Given the description of an element on the screen output the (x, y) to click on. 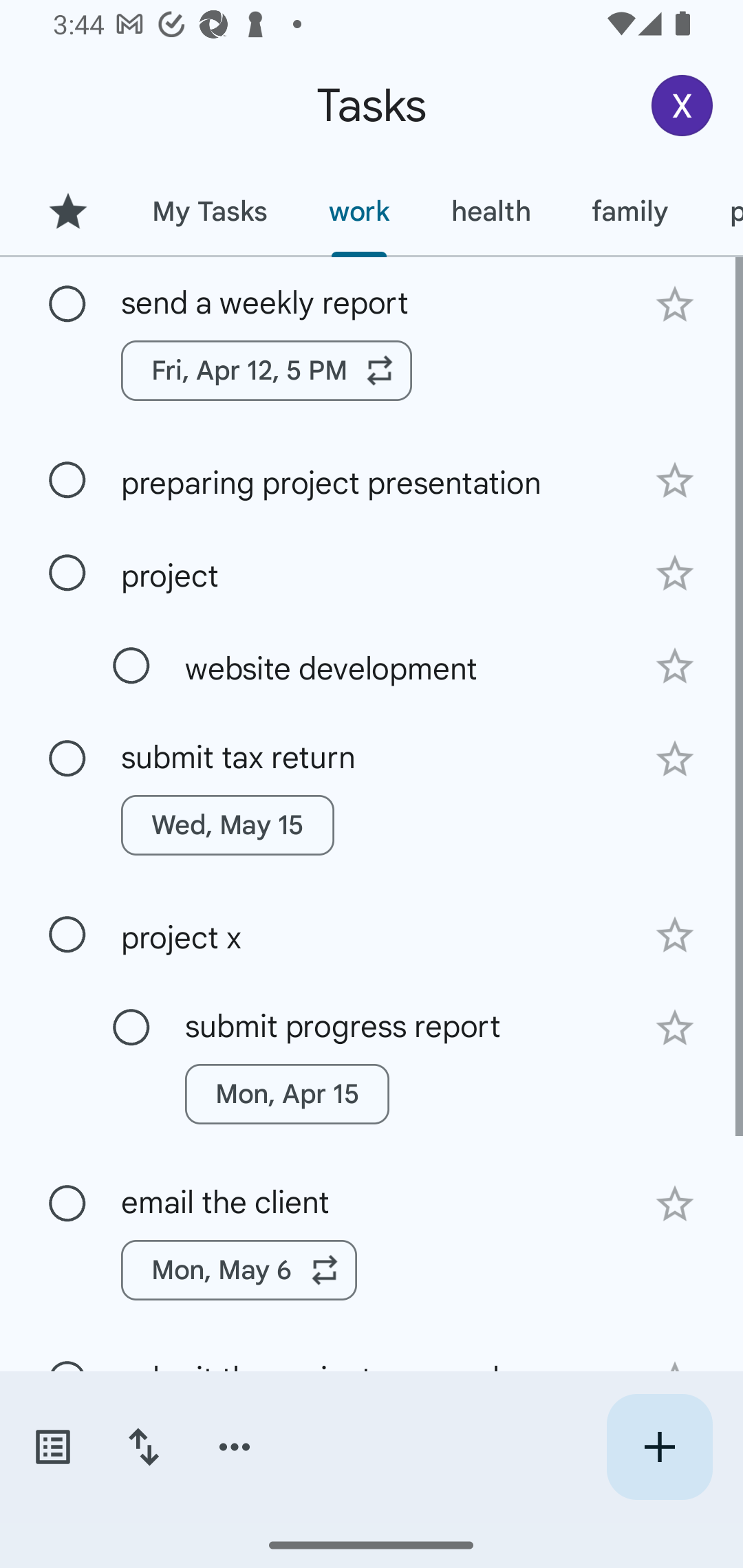
Starred (67, 211)
My Tasks (209, 211)
health (490, 211)
family (629, 211)
Add star (674, 303)
Mark as complete (67, 304)
Fri, Apr 12, 5 PM (266, 369)
Add star (674, 480)
Mark as complete (67, 480)
Add star (674, 573)
Mark as complete (67, 572)
Add star (674, 665)
Mark as complete (131, 666)
Add star (674, 758)
Mark as complete (67, 759)
Wed, May 15 (227, 824)
Add star (674, 935)
Mark as complete (67, 935)
Add star (674, 1028)
Mark as complete (131, 1027)
Mon, Apr 15 (287, 1093)
Add star (674, 1203)
Mark as complete (67, 1204)
Mon, May 6 (239, 1269)
Switch task lists (52, 1447)
Create new task (659, 1446)
Change sort order (143, 1446)
More options (234, 1446)
